Given the description of an element on the screen output the (x, y) to click on. 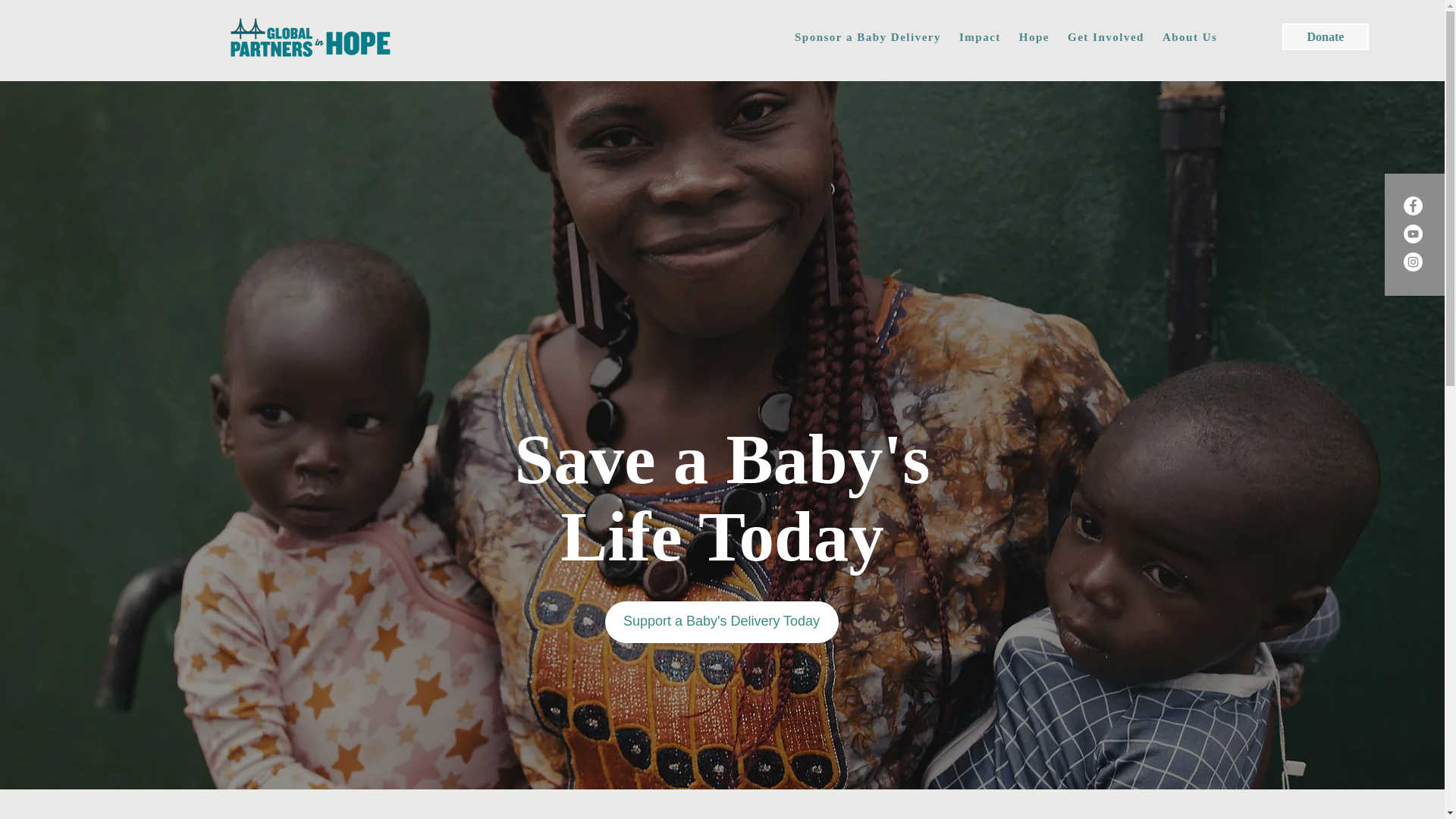
Hope (1034, 37)
Impact (980, 37)
About Us (1189, 37)
Support a Baby's Delivery Today (721, 621)
Sponsor a Baby Delivery (868, 37)
Get Involved (1105, 37)
Donate (1325, 36)
